Given the description of an element on the screen output the (x, y) to click on. 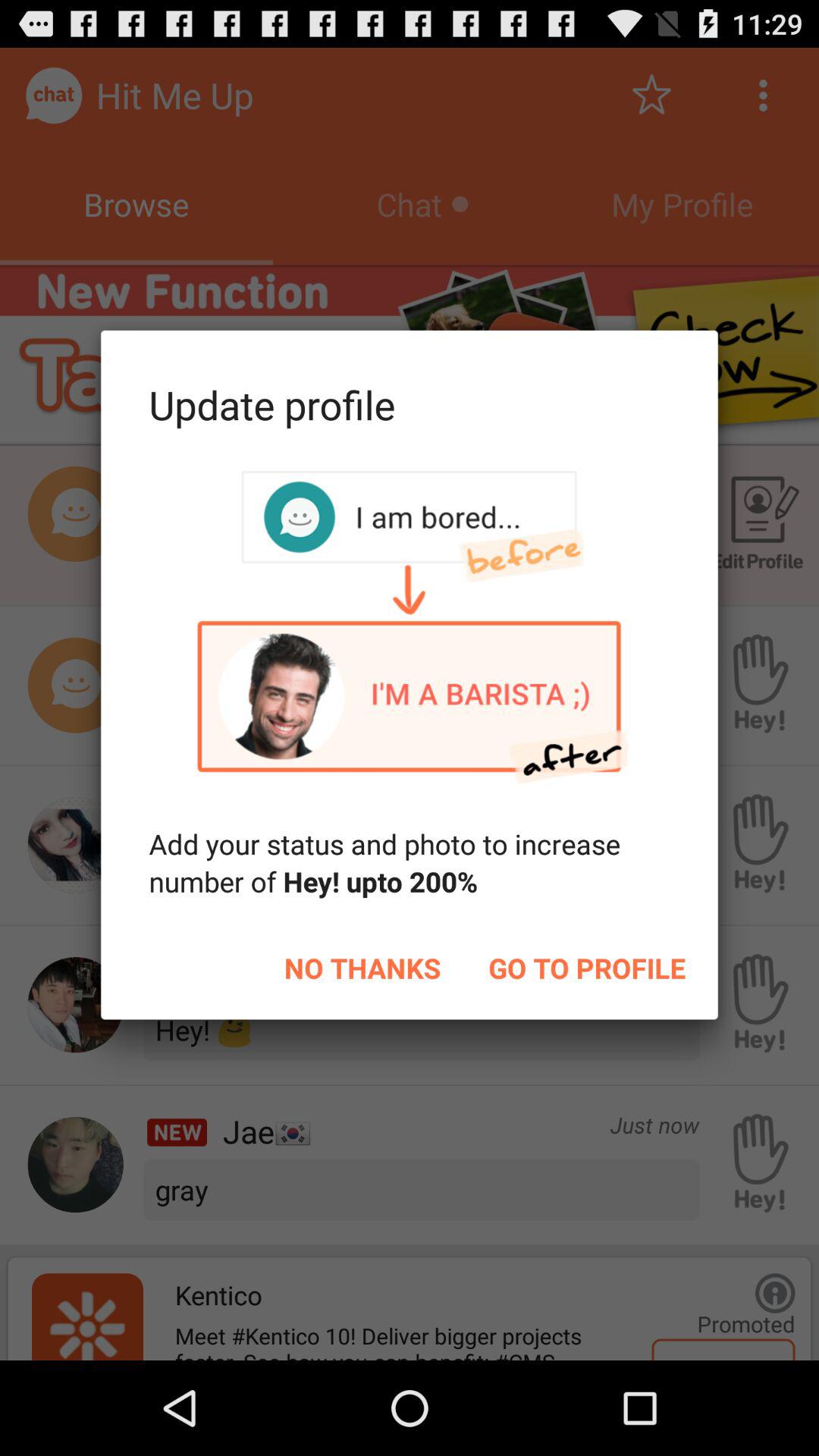
turn on the no thanks app (362, 967)
